Given the description of an element on the screen output the (x, y) to click on. 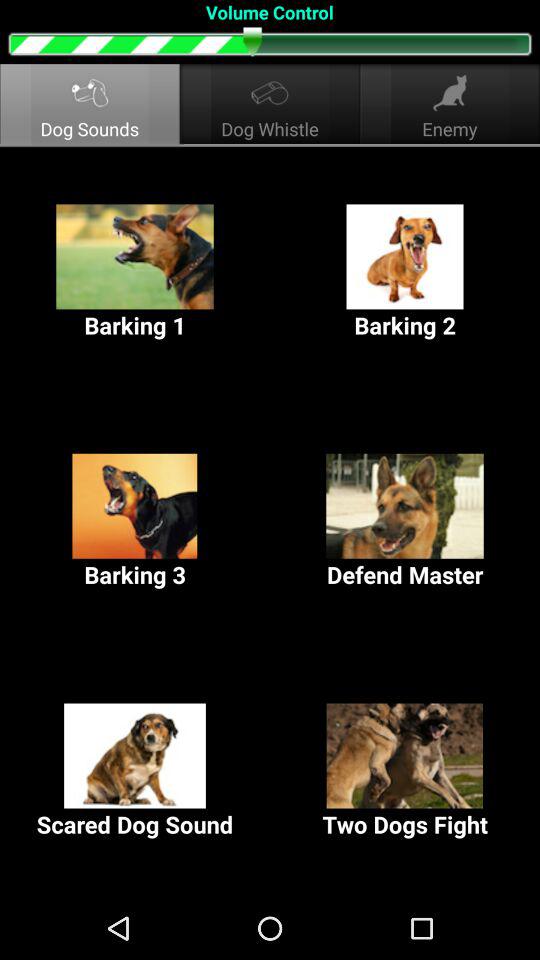
turn off the button to the left of the two dogs fight icon (135, 771)
